Given the description of an element on the screen output the (x, y) to click on. 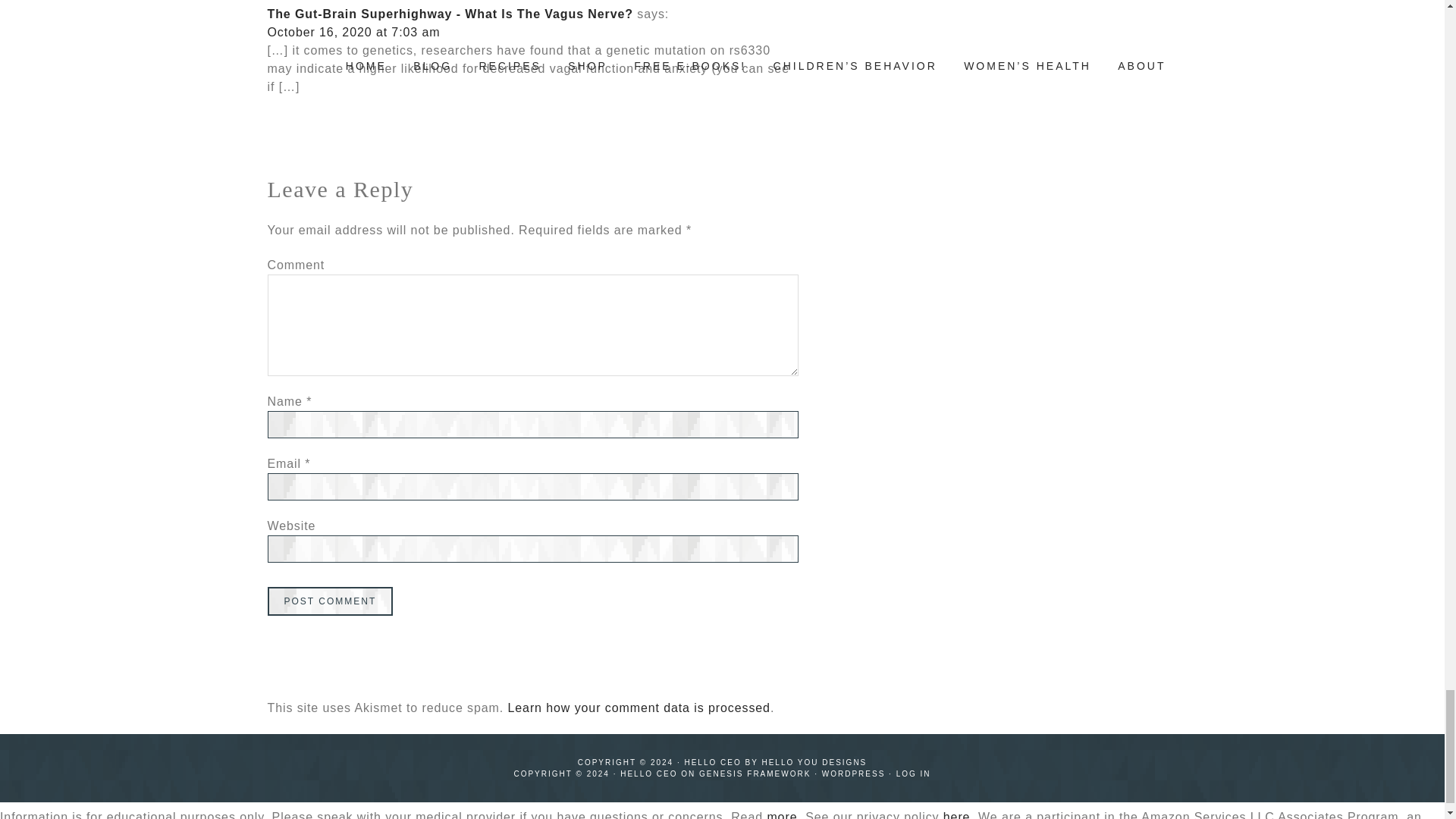
Post Comment (329, 601)
